Given the description of an element on the screen output the (x, y) to click on. 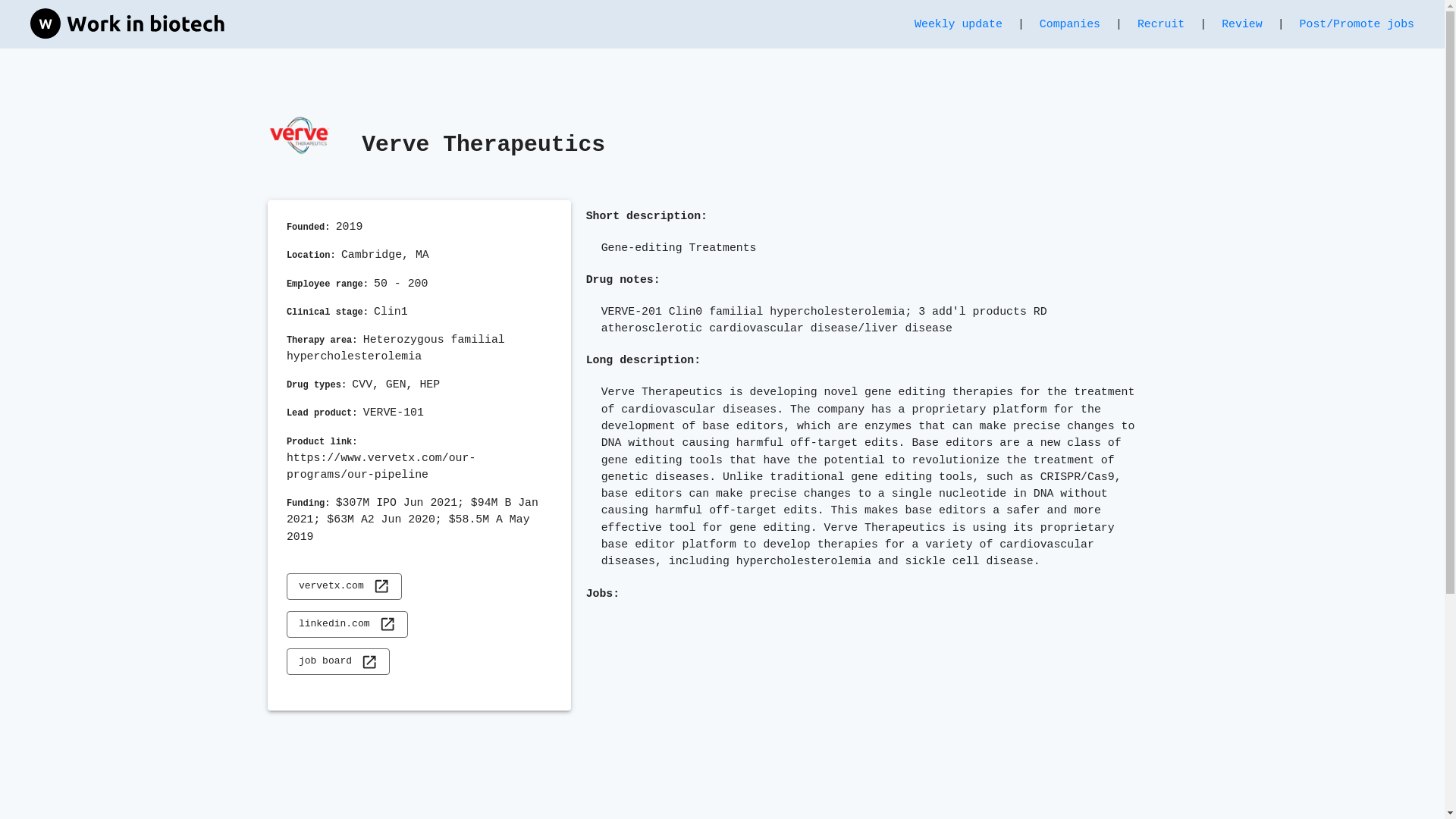
vervetx.com (343, 586)
Weekly update (958, 24)
Review (1241, 24)
Recruit (1161, 24)
job board (338, 661)
linkedin.com (346, 624)
Companies (1069, 24)
